Given the description of an element on the screen output the (x, y) to click on. 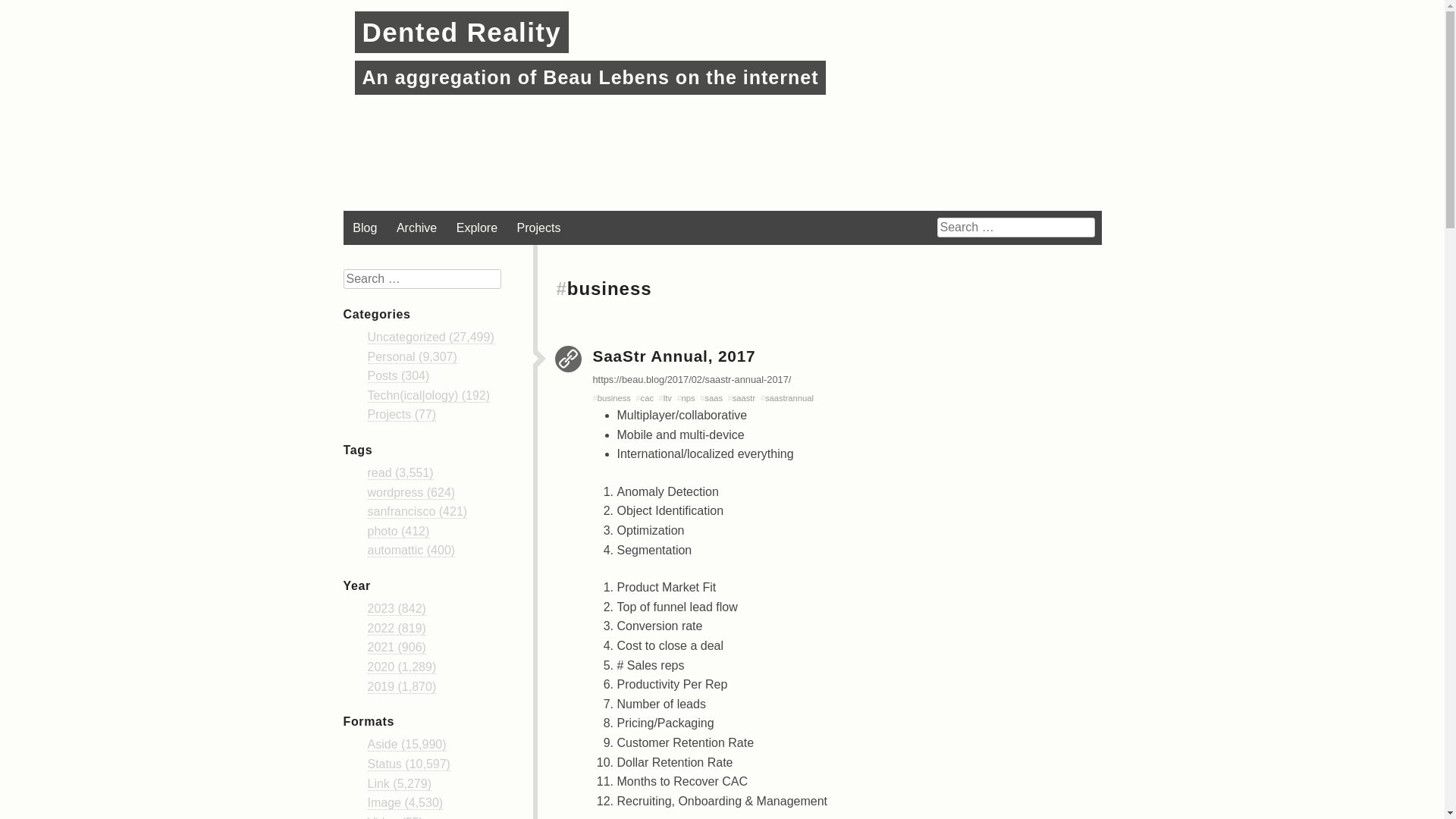
photo (412) Element type: text (398, 531)
Link (5,279) Element type: text (399, 783)
2021 (906) Element type: text (396, 647)
2020 (1,289) Element type: text (401, 667)
wordpress (624) Element type: text (411, 492)
SaaStr Annual, 2017 Element type: text (674, 355)
Personal (9,307) Element type: text (411, 357)
Search Element type: text (24, 10)
ltv Element type: text (667, 397)
cac Element type: text (646, 397)
read (3,551) Element type: text (400, 473)
Skip to content Element type: text (382, 220)
Projects Element type: text (538, 227)
sanfrancisco (421) Element type: text (417, 511)
saas Element type: text (713, 397)
Blog Element type: text (364, 227)
Image (4,530) Element type: text (404, 802)
Dented Reality Element type: text (461, 32)
Status (10,597) Element type: text (408, 764)
Explore Element type: text (476, 227)
nps Element type: text (688, 397)
automattic (400) Element type: text (411, 550)
Aside (15,990) Element type: text (406, 744)
saastrannual Element type: text (789, 397)
Archive Element type: text (416, 227)
2019 (1,870) Element type: text (401, 686)
2023 (842) Element type: text (396, 608)
business Element type: text (613, 397)
saastr Element type: text (743, 397)
2022 (819) Element type: text (396, 628)
Techn(ical|ology) (192) Element type: text (428, 395)
Projects (77) Element type: text (401, 414)
Posts (304) Element type: text (398, 375)
https://beau.blog/2017/02/saastr-annual-2017/ Element type: text (692, 379)
Uncategorized (27,499) Element type: text (430, 337)
